Given the description of an element on the screen output the (x, y) to click on. 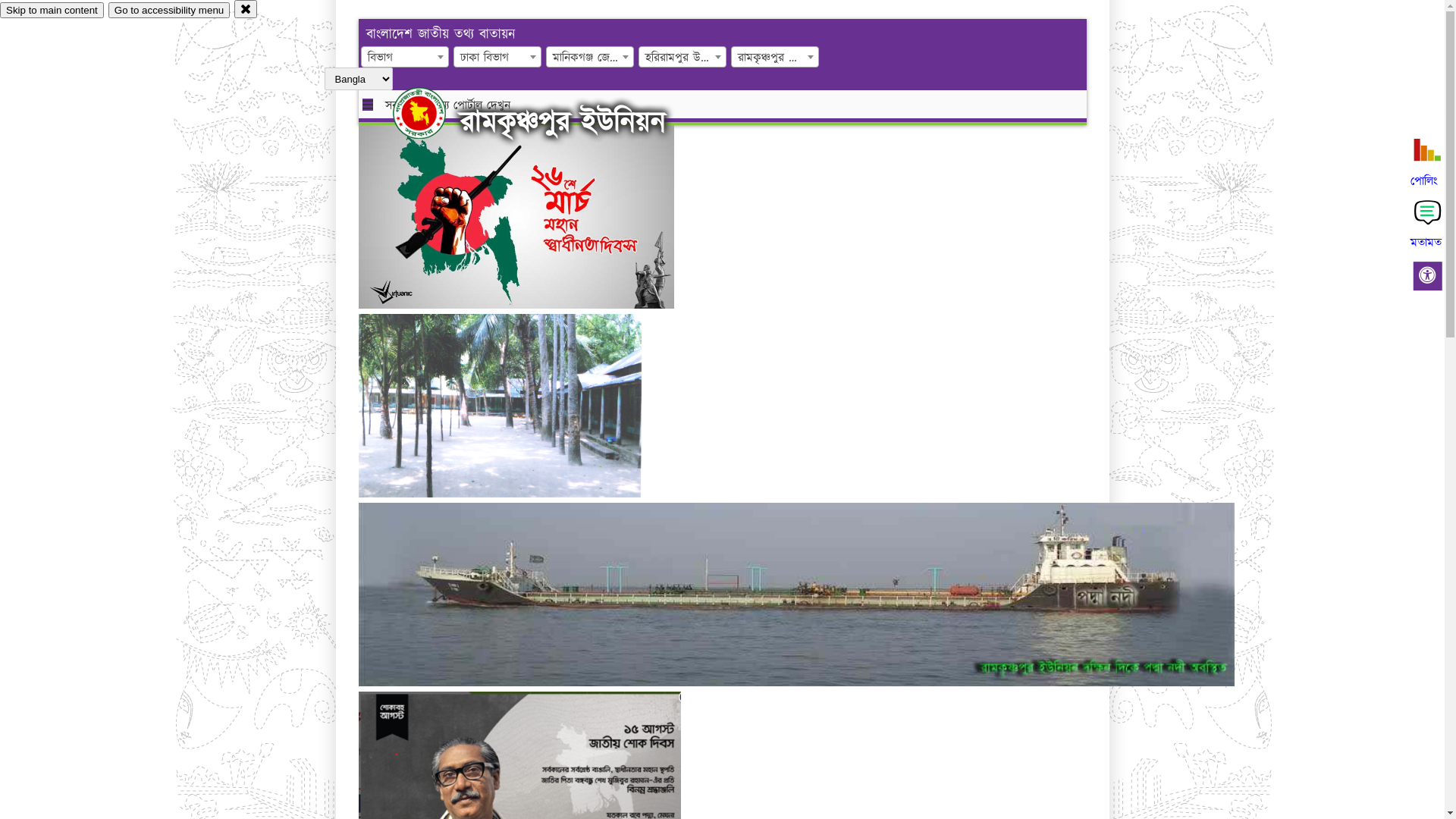
close Element type: hover (245, 9)

                
             Element type: hover (431, 112)
Go to accessibility menu Element type: text (168, 10)
Skip to main content Element type: text (51, 10)
